Given the description of an element on the screen output the (x, y) to click on. 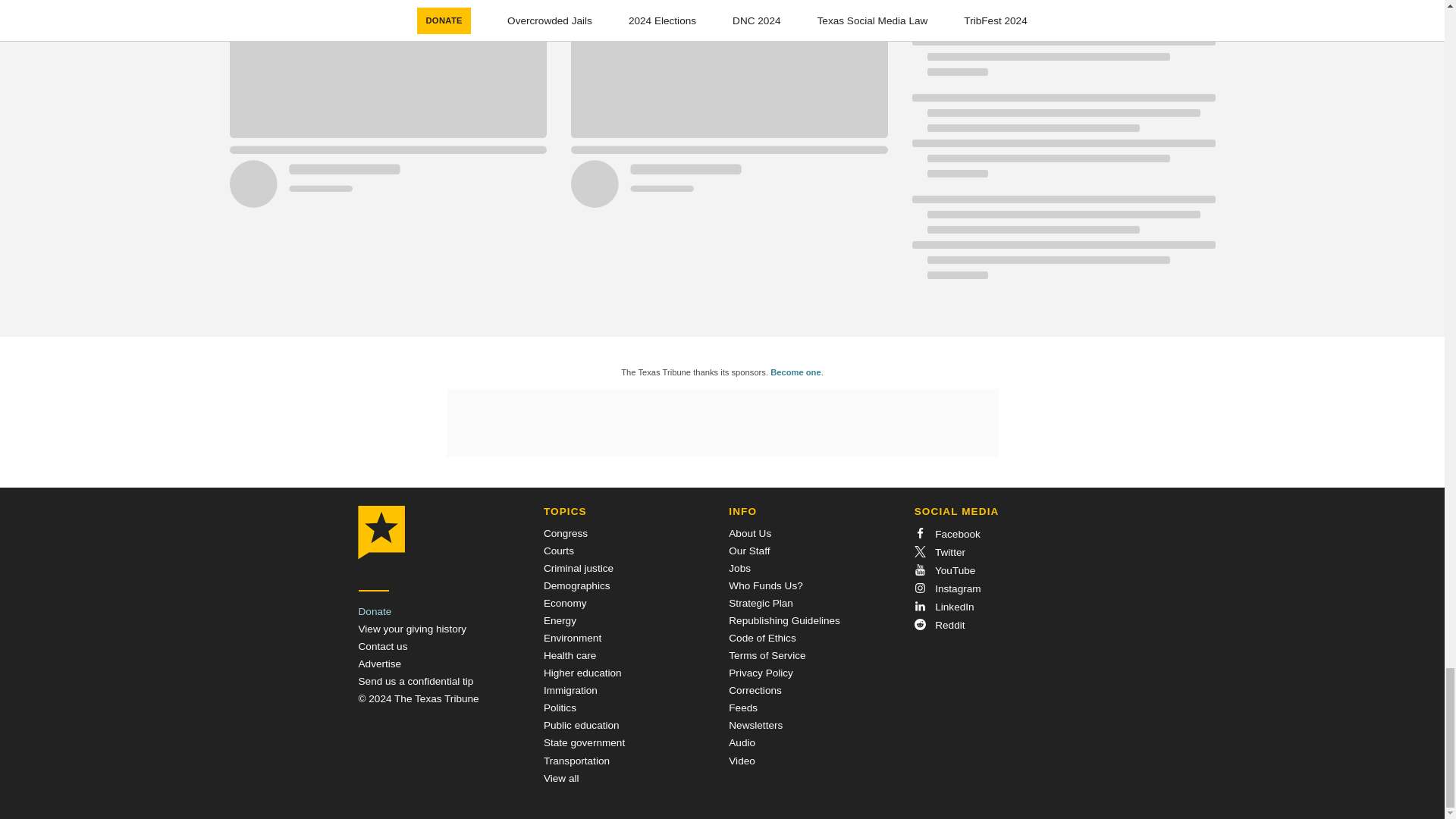
Send a Tip (415, 681)
Code of Ethics (761, 637)
View your giving history (411, 628)
Privacy Policy (761, 672)
Strategic Plan (761, 603)
Newsletters (756, 725)
Contact us (382, 645)
Republishing Guidelines (784, 620)
Corrections (755, 690)
Feeds (743, 707)
